Given the description of an element on the screen output the (x, y) to click on. 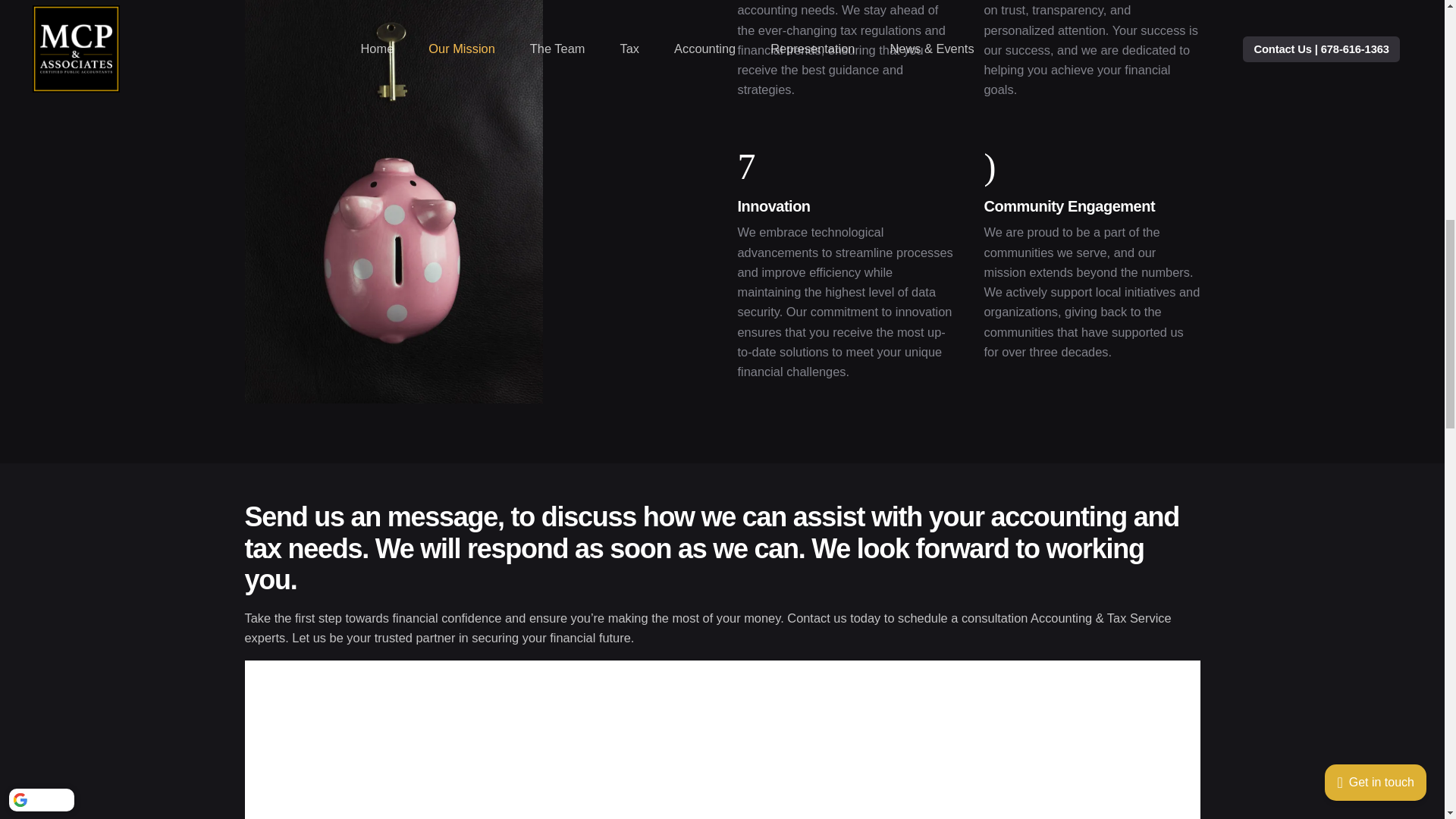
Form 0 (721, 758)
piggy-bank-key (392, 201)
